Given the description of an element on the screen output the (x, y) to click on. 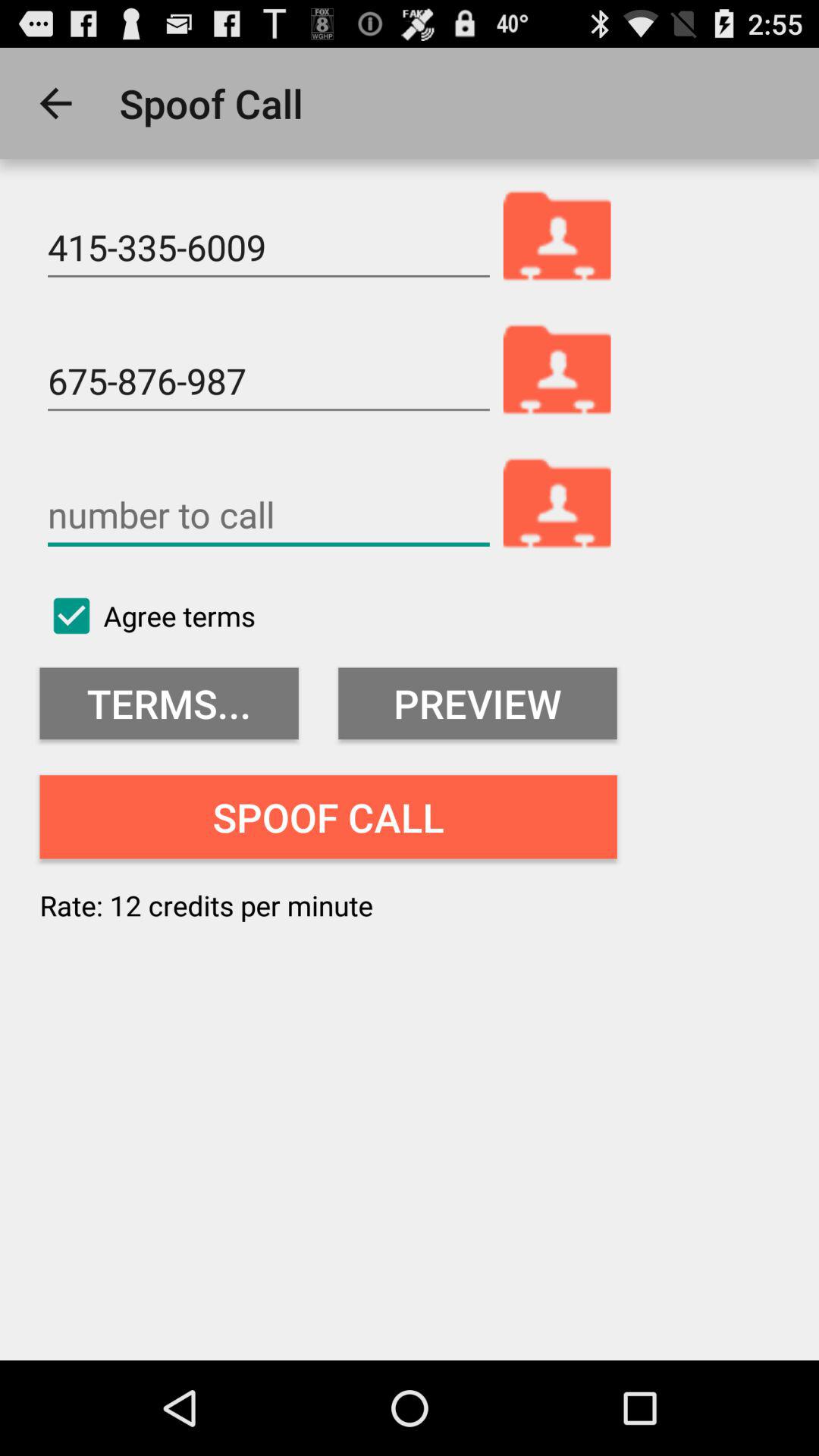
turn off the icon to the right of terms... item (477, 703)
